Given the description of an element on the screen output the (x, y) to click on. 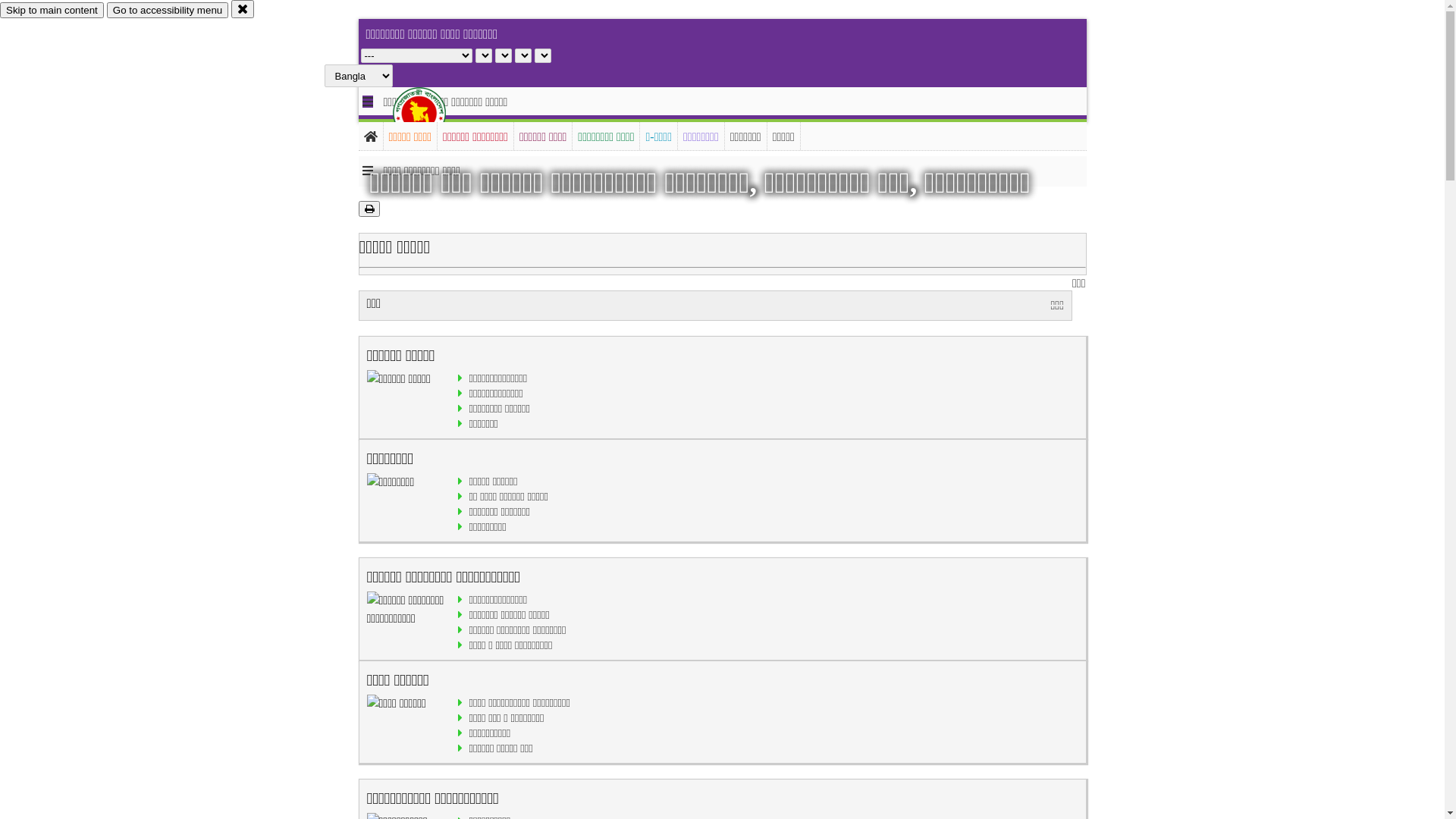

                
             Element type: hover (431, 112)
close Element type: hover (242, 9)
Go to accessibility menu Element type: text (167, 10)
Skip to main content Element type: text (51, 10)
